Given the description of an element on the screen output the (x, y) to click on. 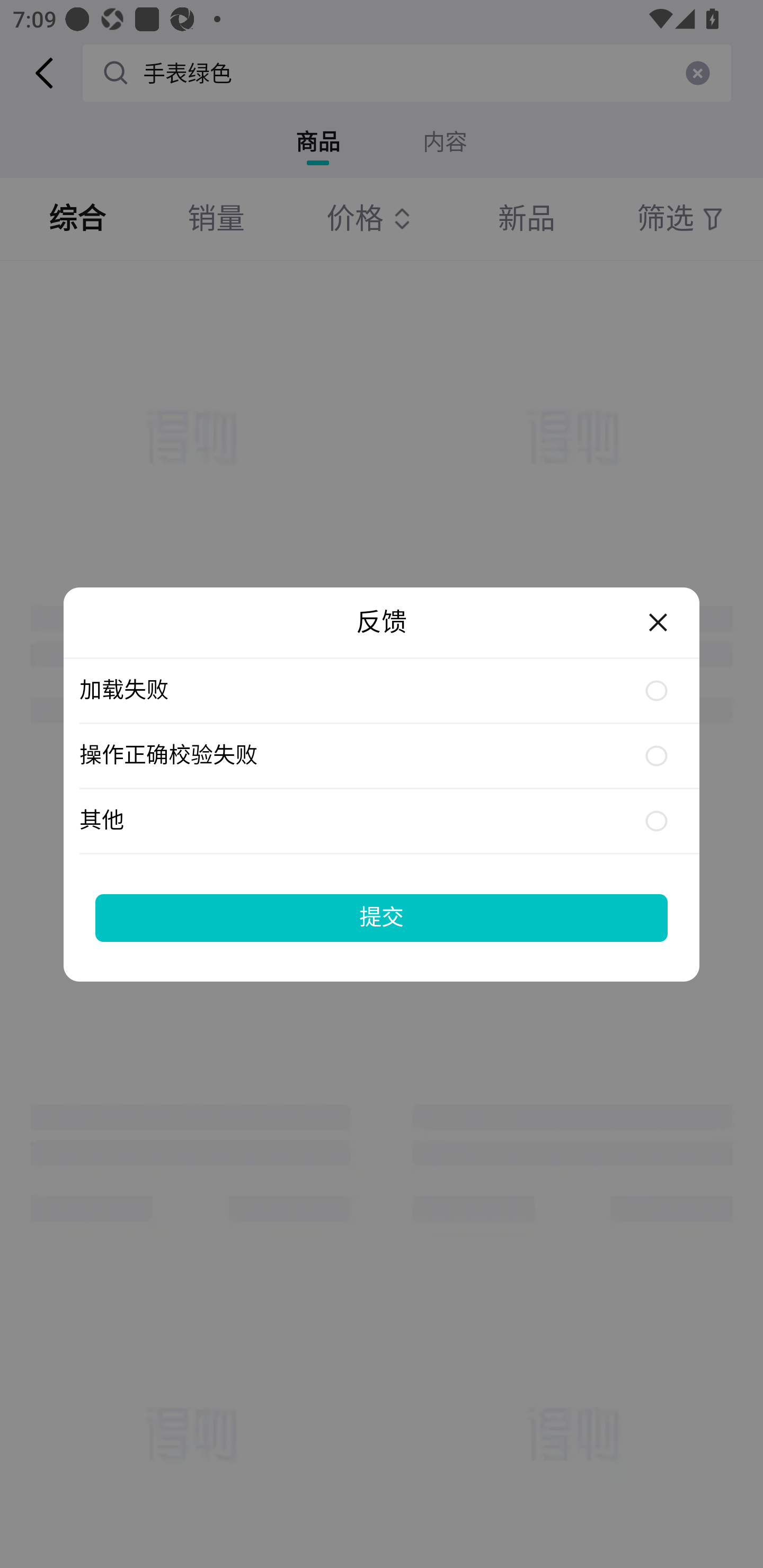
提交 (381, 917)
